Given the description of an element on the screen output the (x, y) to click on. 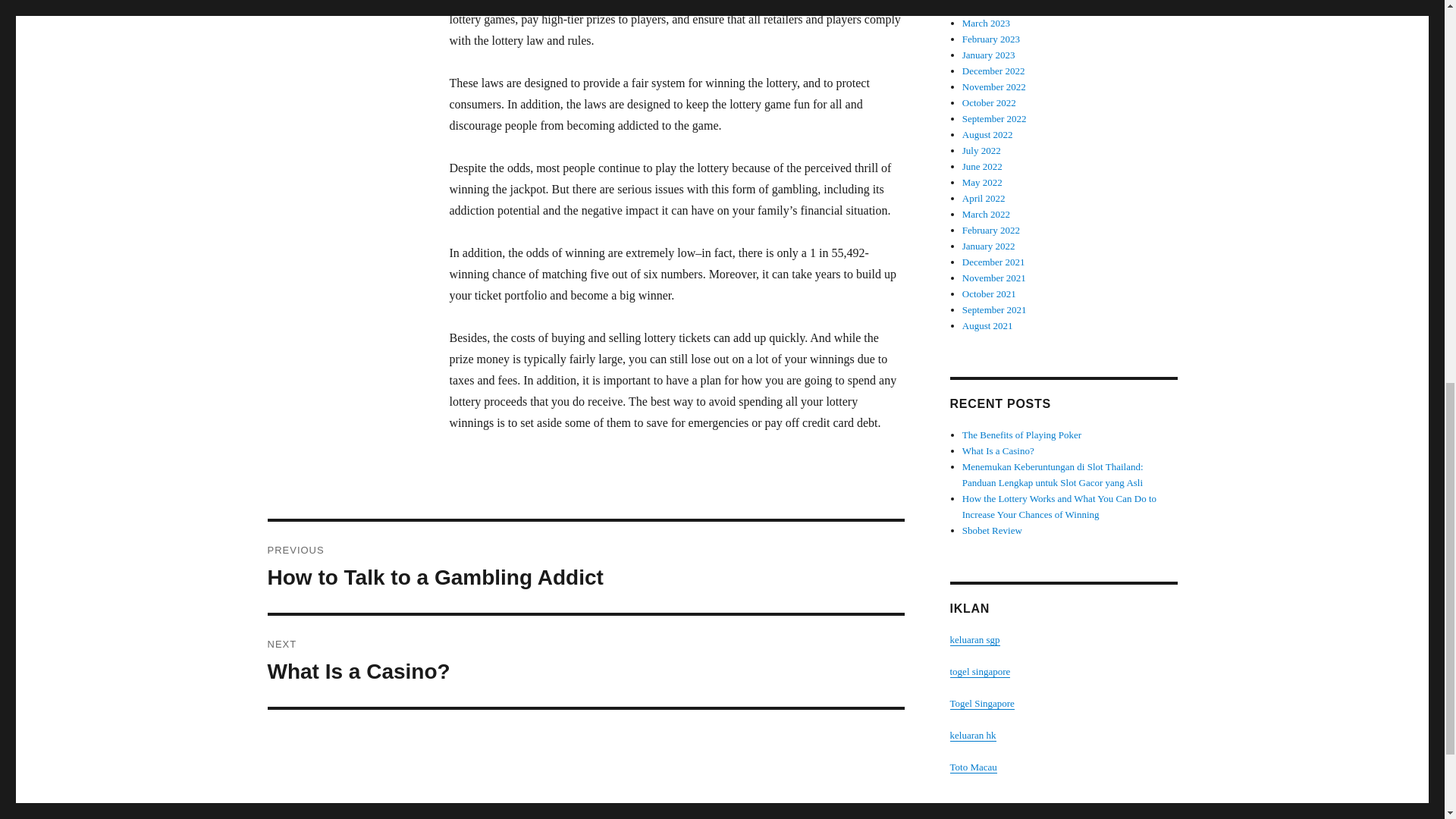
July 2022 (981, 150)
October 2022 (989, 102)
March 2023 (986, 22)
April 2023 (984, 7)
December 2022 (993, 70)
September 2022 (994, 118)
January 2023 (988, 54)
August 2022 (987, 134)
February 2023 (991, 39)
November 2022 (585, 660)
